Given the description of an element on the screen output the (x, y) to click on. 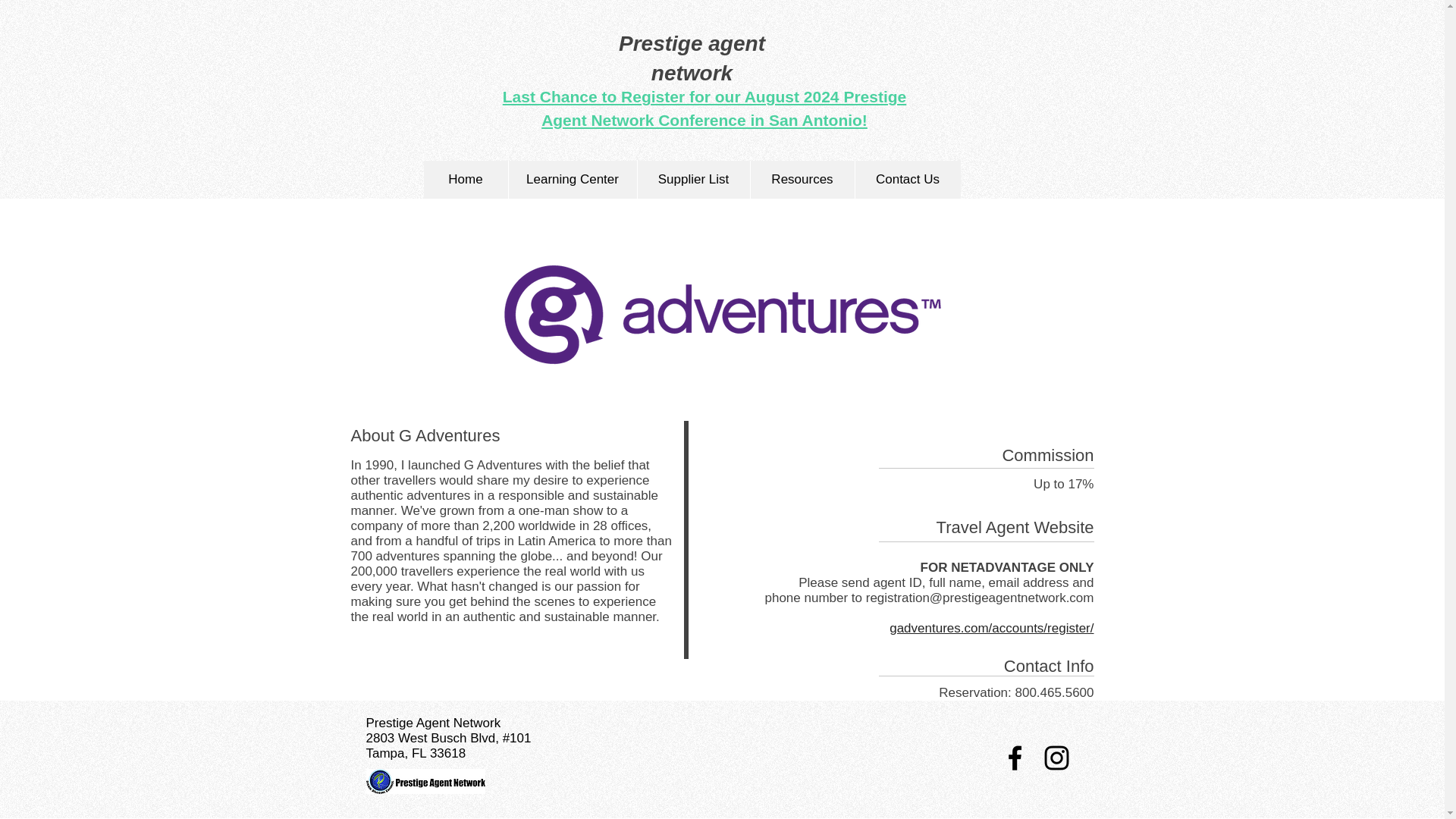
Home (464, 179)
Learning Center (572, 179)
Contact Us (906, 179)
Supplier List (693, 179)
Resources (801, 179)
